Given the description of an element on the screen output the (x, y) to click on. 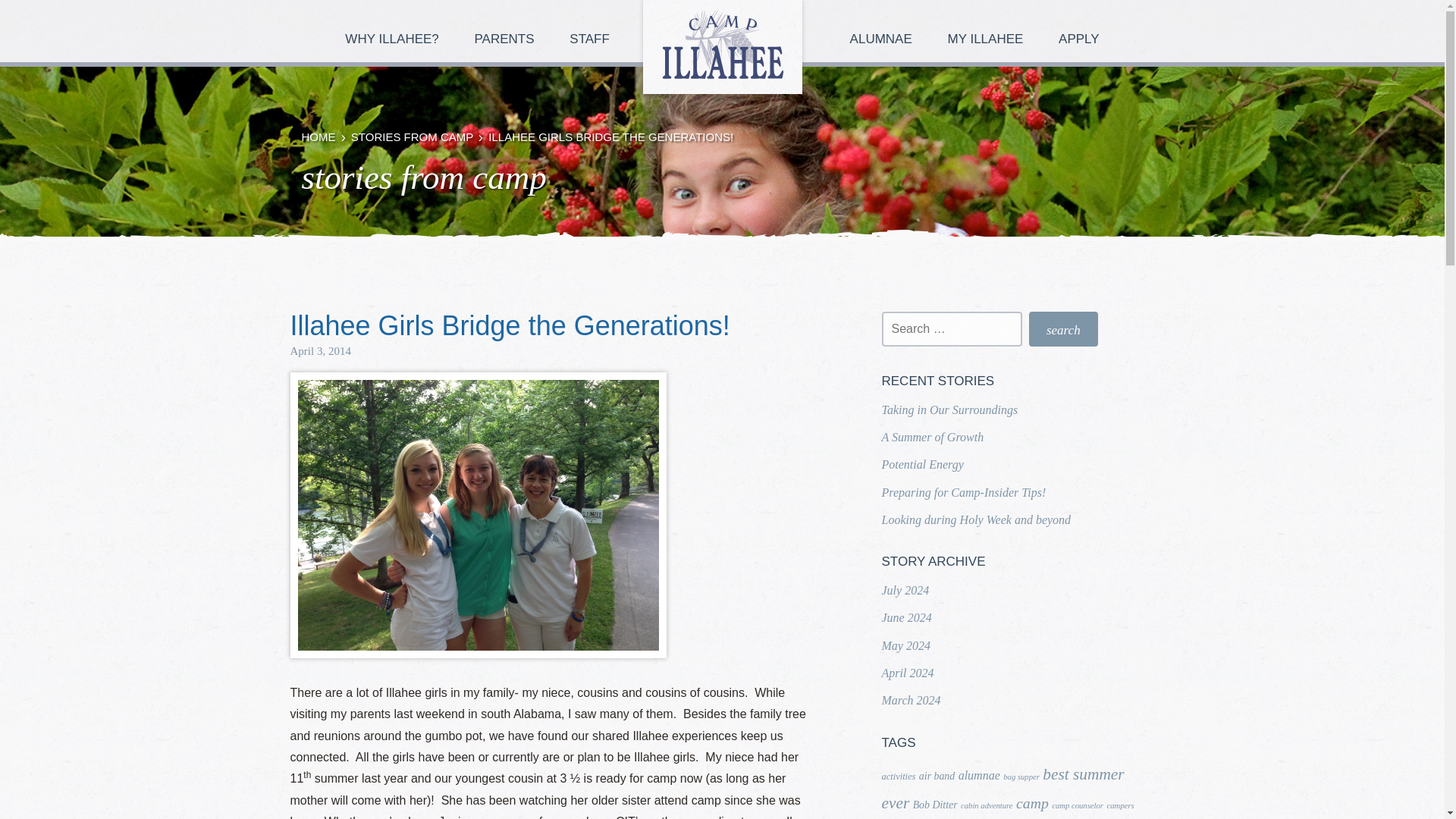
STAFF (591, 31)
Search (1063, 329)
MY ILLAHEE (988, 31)
Search (1063, 329)
HOME (318, 136)
PARENTS (507, 31)
WHY ILLAHEE? (394, 31)
ALUMNAE (883, 31)
APPLY (1079, 31)
STORIES FROM CAMP (411, 136)
